Given the description of an element on the screen output the (x, y) to click on. 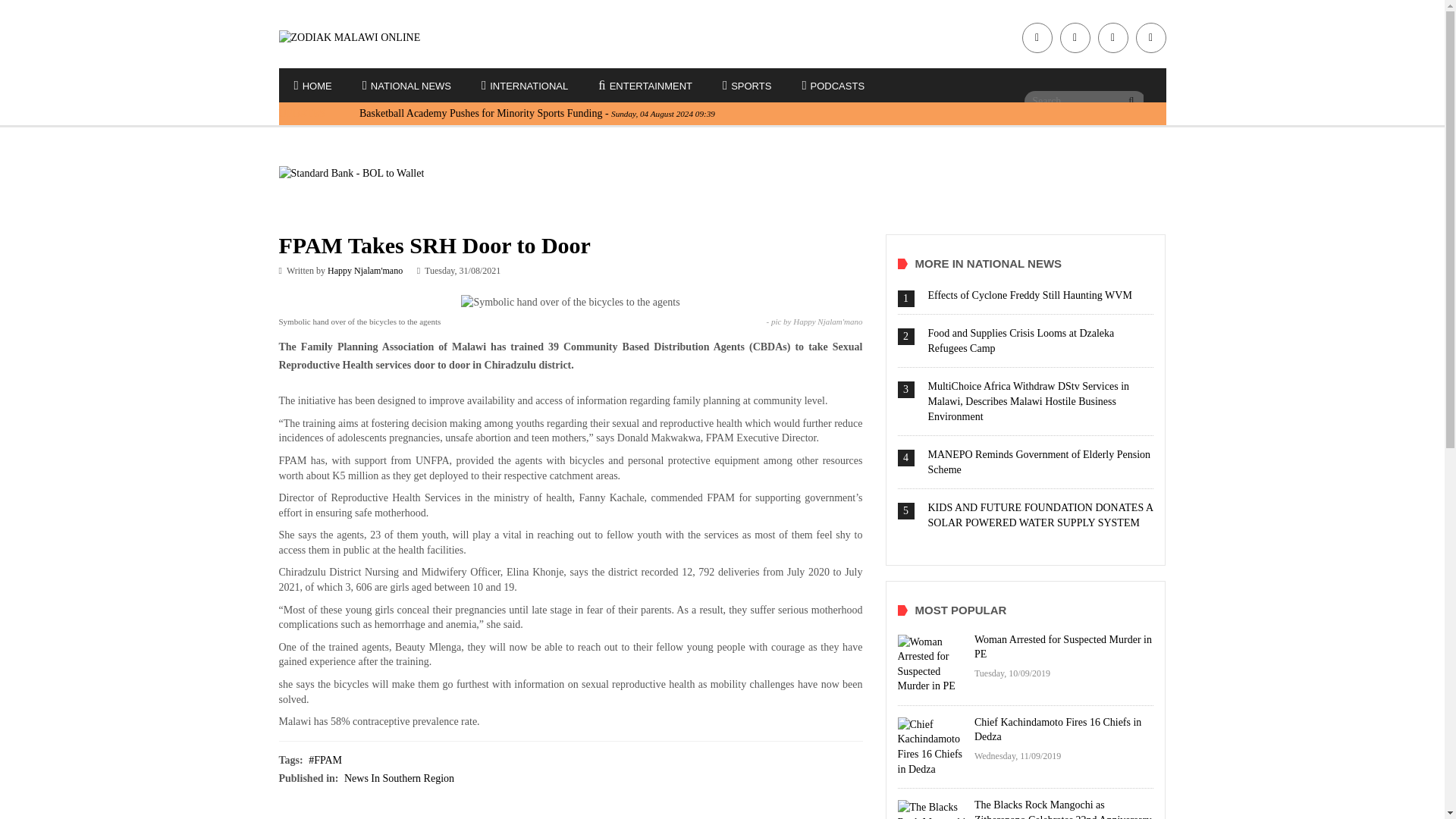
Happy Njalam'mano (365, 270)
Go (1130, 100)
ENTERTAINMENT (645, 85)
INTERNATIONAL (524, 85)
PODCASTS (832, 85)
ZODIAK MALAWI ONLINE (381, 37)
NATIONAL NEWS (406, 85)
News In Southern Region (398, 778)
HOME (313, 85)
FPAM (325, 759)
Continue reading "Woman Arrested for Suspected Murder in PE" (932, 663)
SPORTS (746, 85)
